Given the description of an element on the screen output the (x, y) to click on. 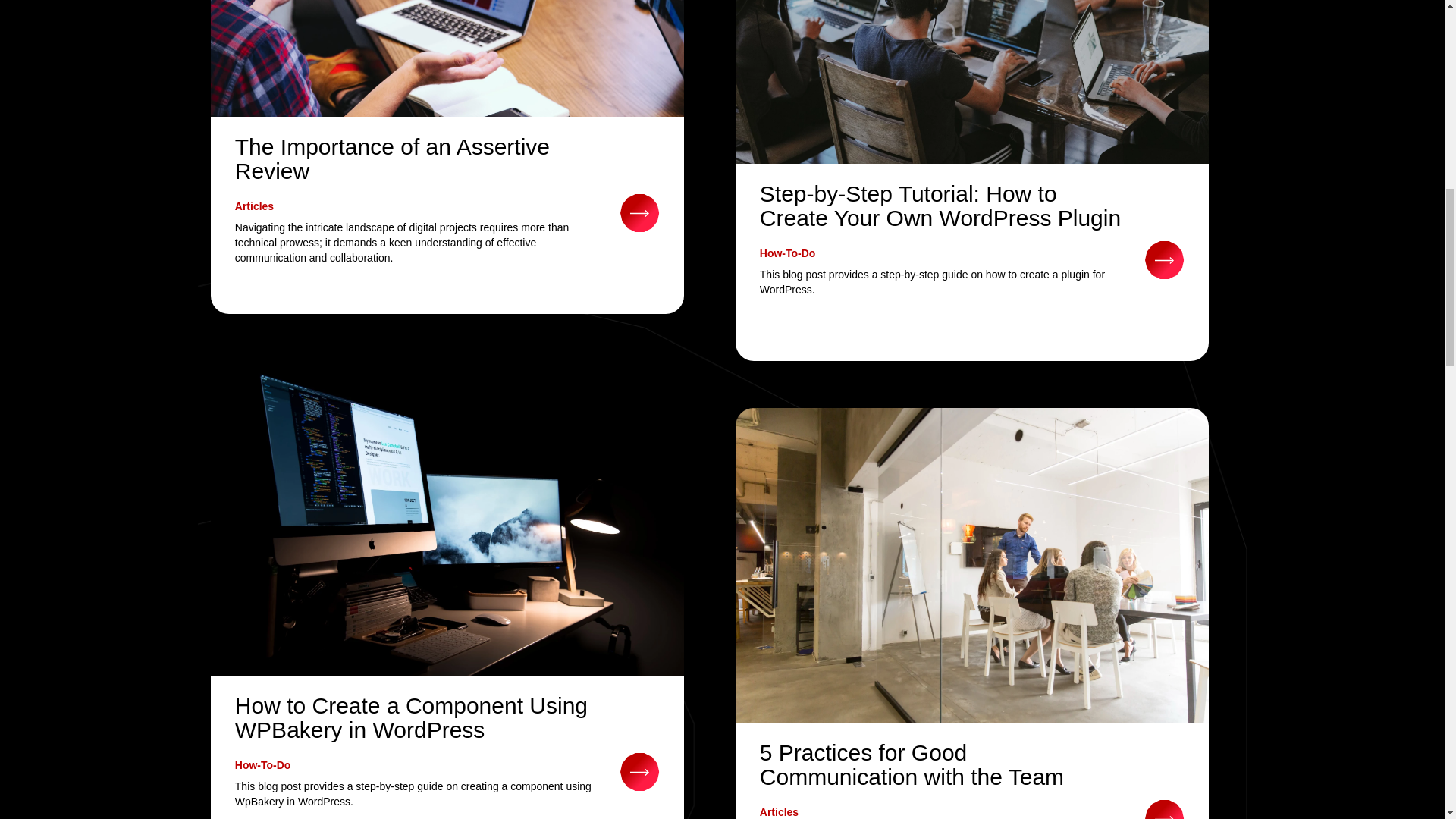
button-let-talk (639, 210)
button-let-talk (1164, 258)
button-let-talk (1164, 807)
button-let-talk (639, 770)
